Given the description of an element on the screen output the (x, y) to click on. 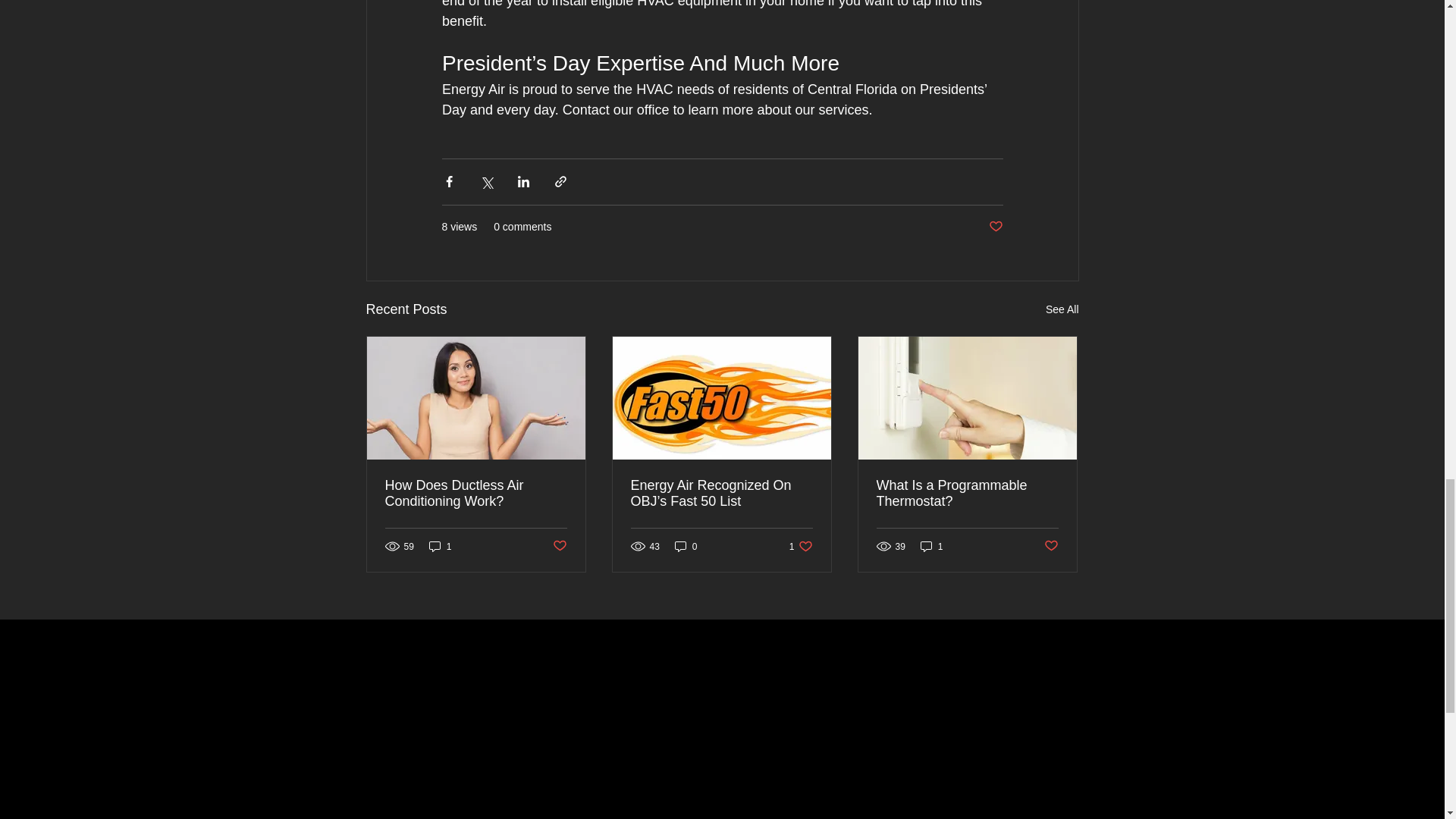
Post not marked as liked (995, 226)
1 (931, 545)
Post not marked as liked (1050, 546)
Post not marked as liked (558, 546)
0 (685, 545)
How Does Ductless Air Conditioning Work? (476, 493)
1 (440, 545)
See All (800, 545)
What Is a Programmable Thermostat? (1061, 309)
